Given the description of an element on the screen output the (x, y) to click on. 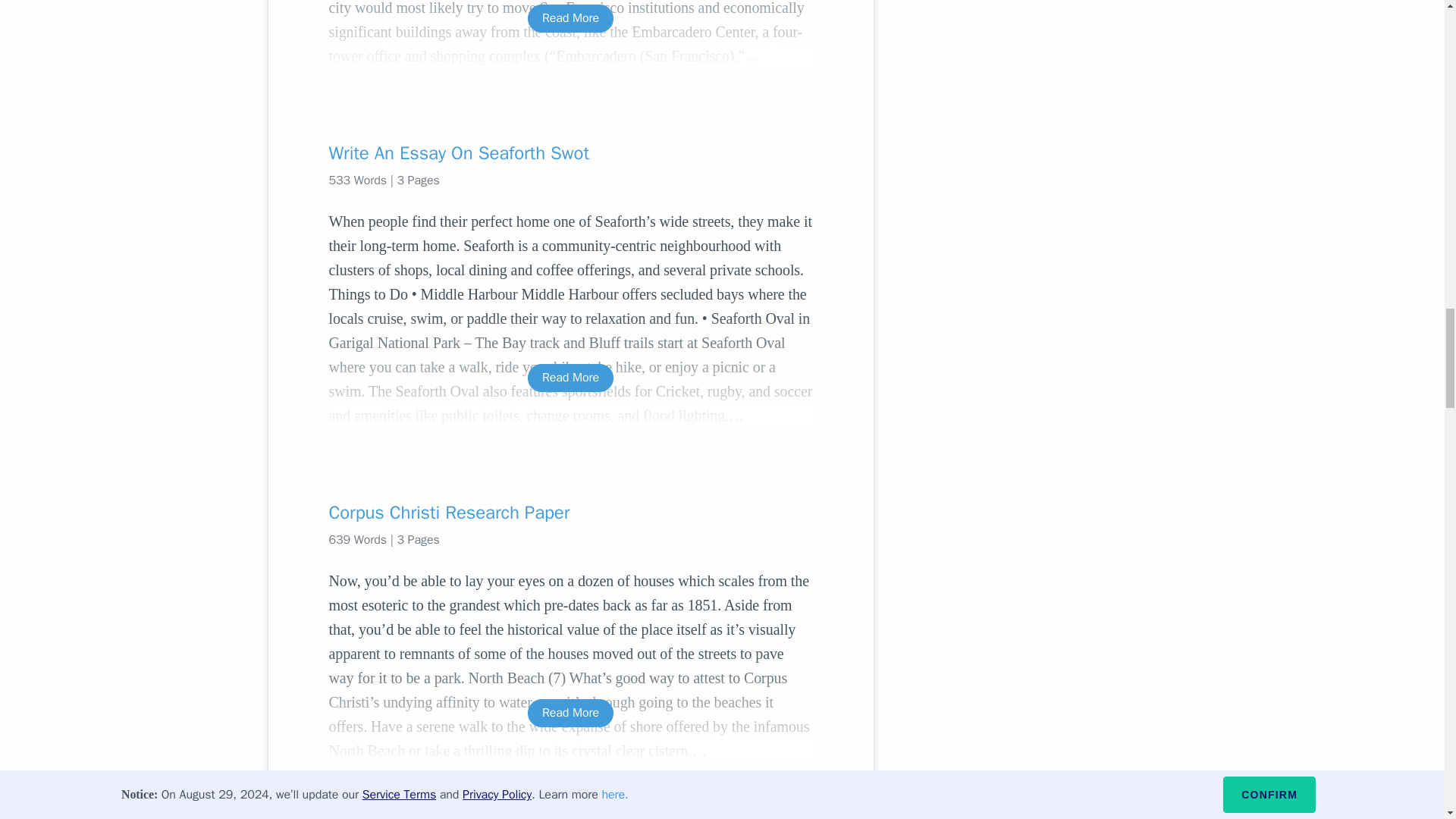
Corpus Christi Research Paper (570, 512)
Read More (569, 713)
Read More (569, 377)
Write An Essay On Seaforth Swot (570, 152)
Read More (569, 18)
